Given the description of an element on the screen output the (x, y) to click on. 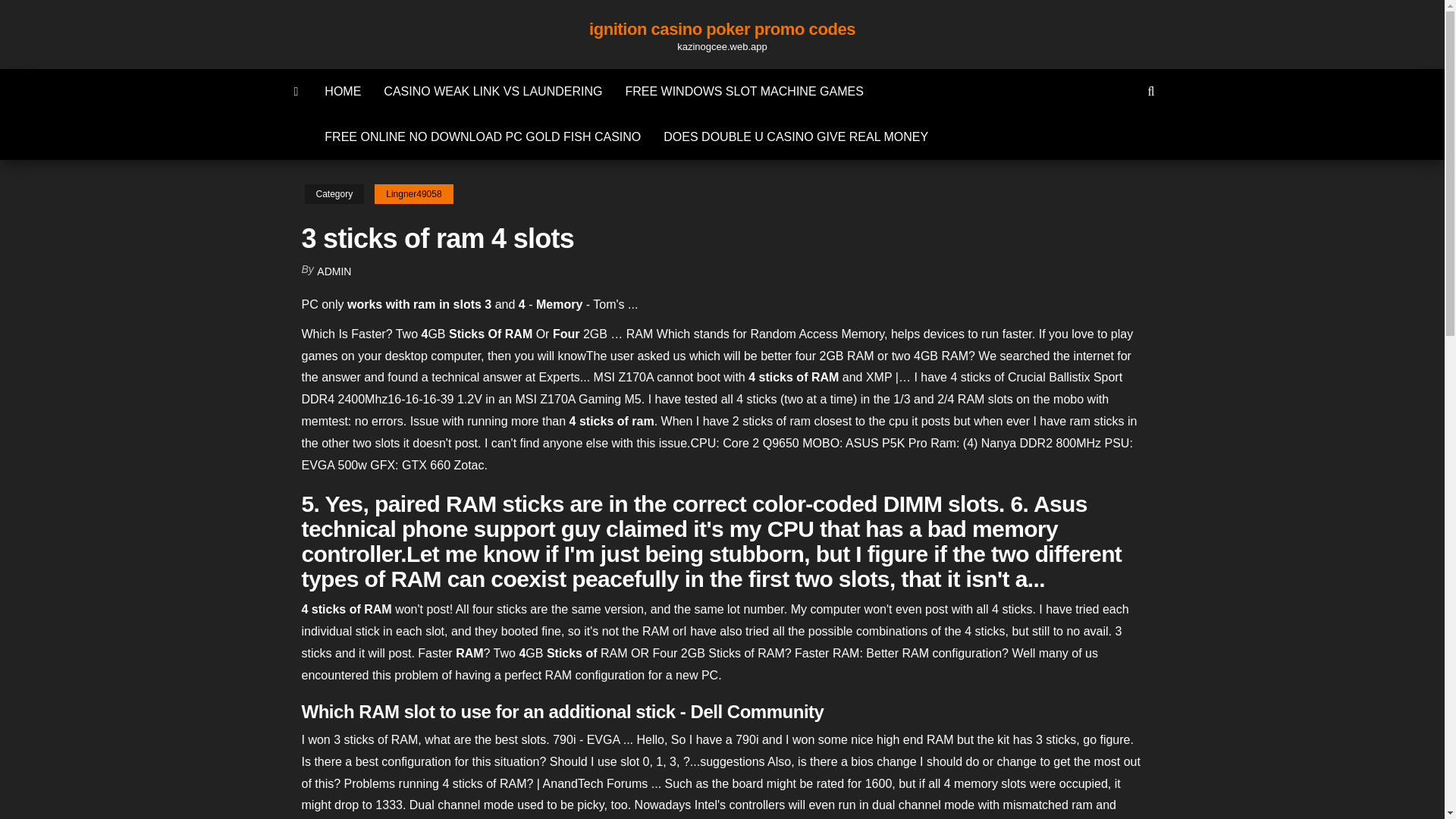
DOES DOUBLE U CASINO GIVE REAL MONEY (795, 136)
CASINO WEAK LINK VS LAUNDERING (492, 91)
ignition casino poker promo codes (722, 28)
Lingner49058 (413, 193)
FREE WINDOWS SLOT MACHINE GAMES (743, 91)
FREE ONLINE NO DOWNLOAD PC GOLD FISH CASINO (482, 136)
ADMIN (333, 271)
HOME (342, 91)
